Given the description of an element on the screen output the (x, y) to click on. 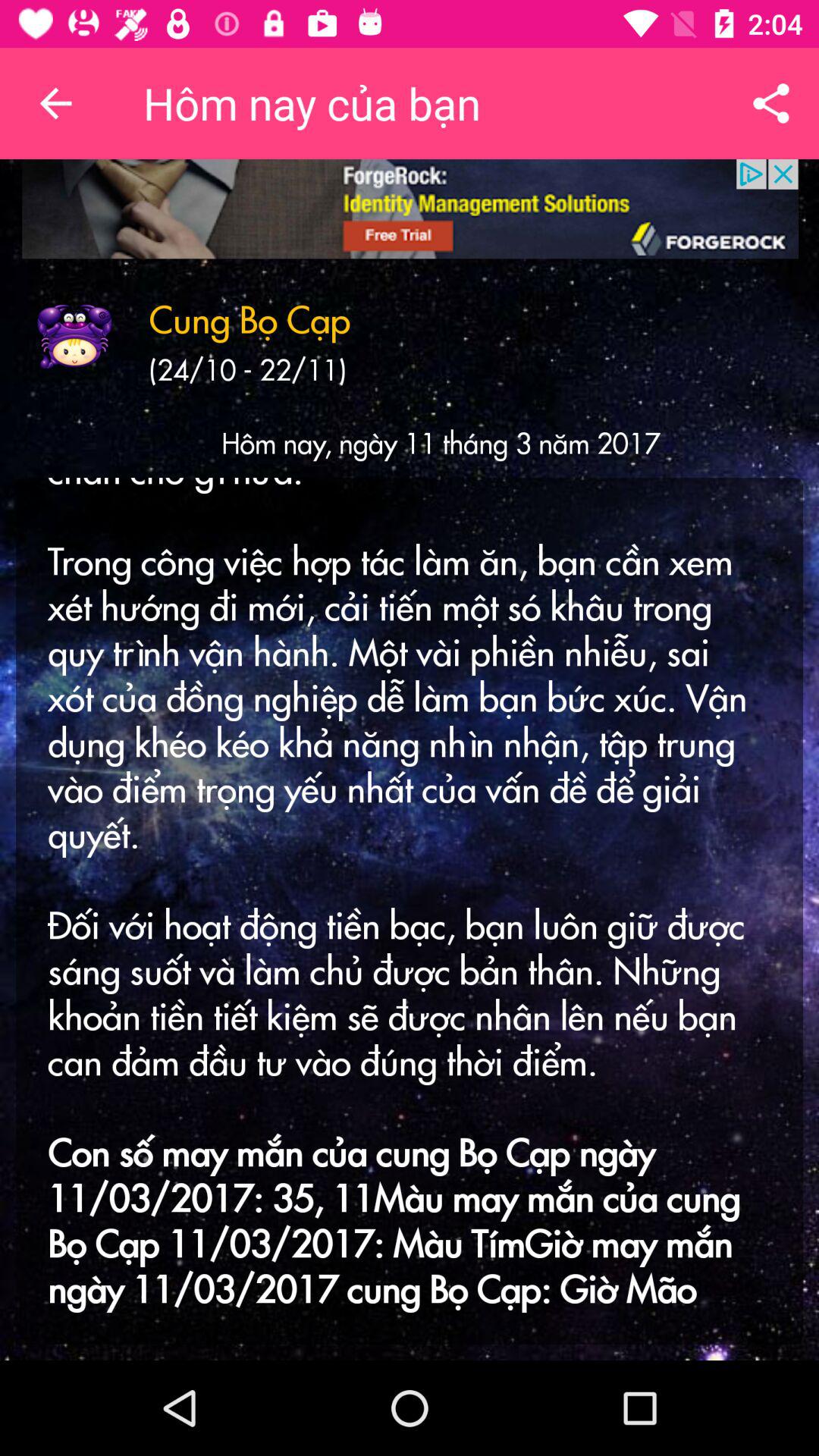
turn off the item at the top right corner (771, 103)
